Given the description of an element on the screen output the (x, y) to click on. 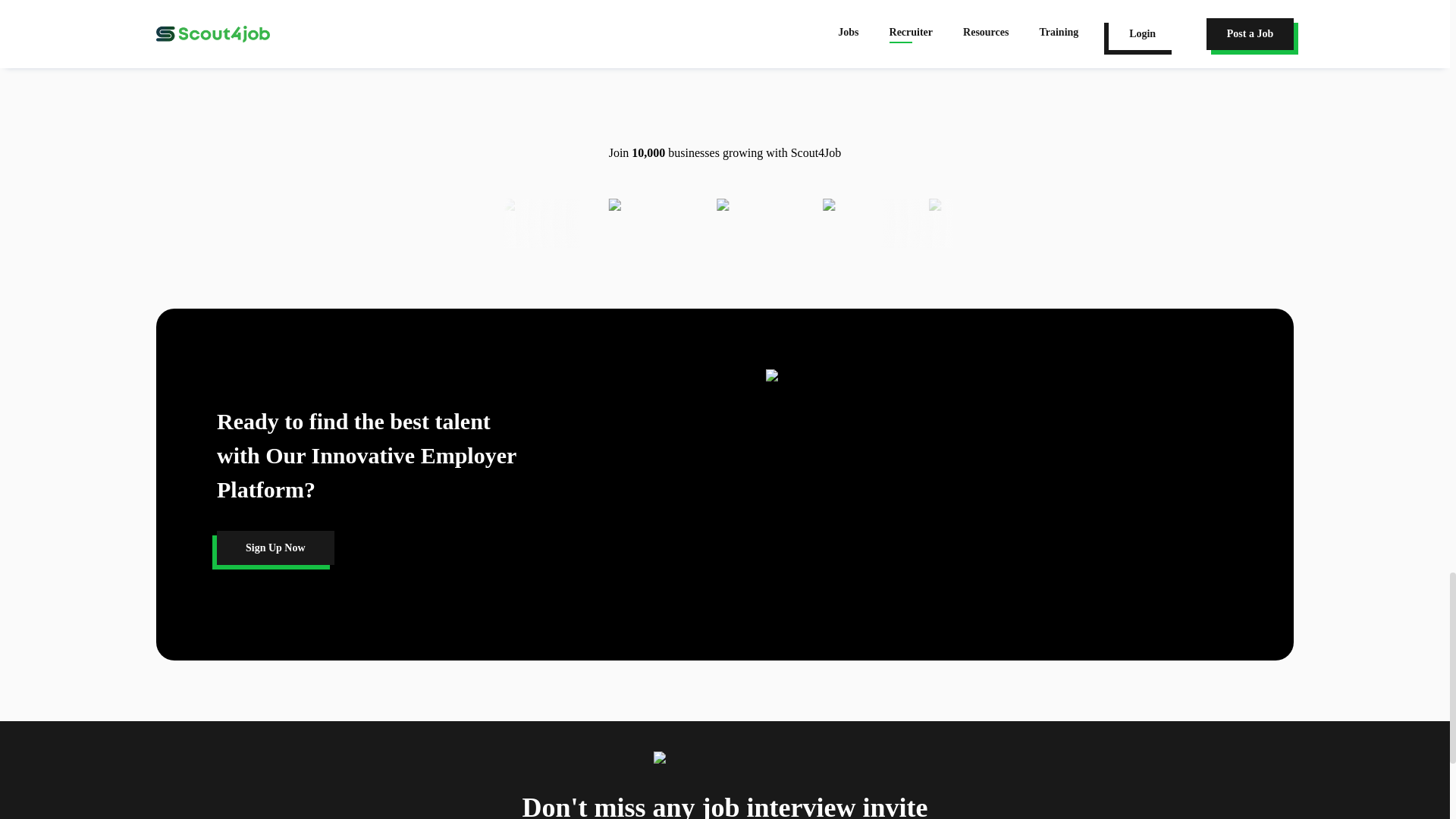
Sign Up Now (275, 547)
